Given the description of an element on the screen output the (x, y) to click on. 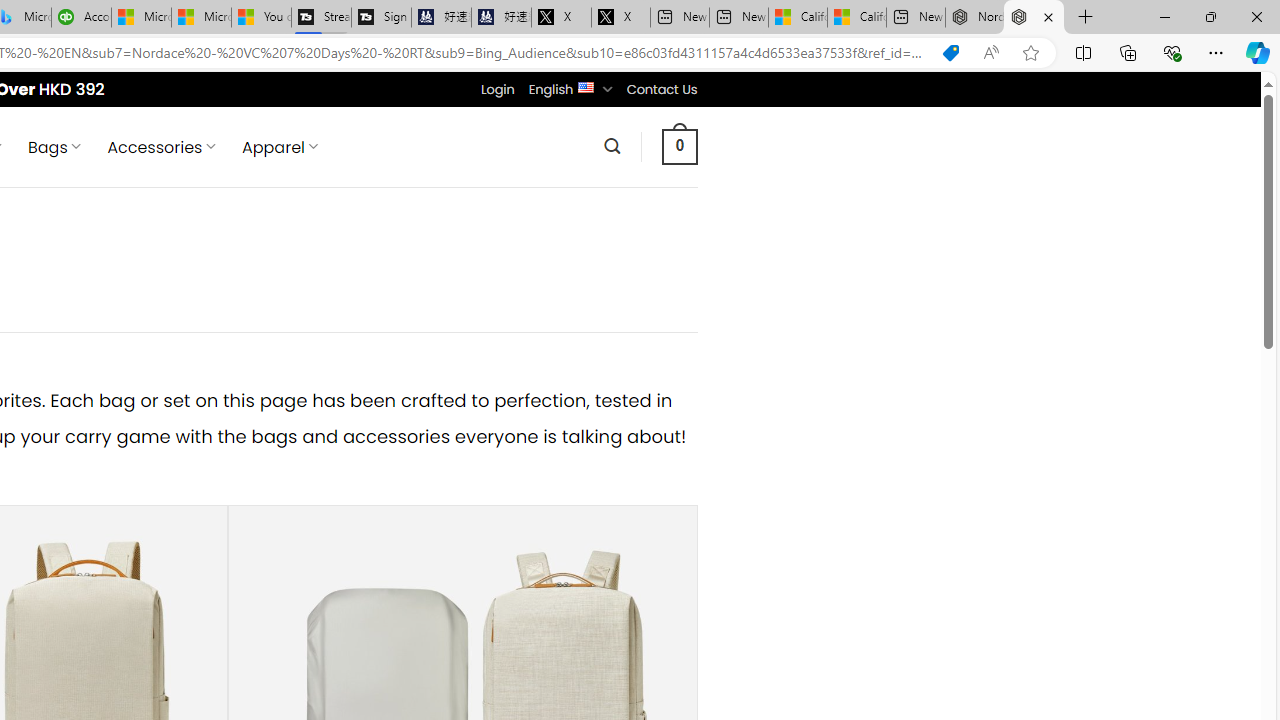
This site has coupons! Shopping in Microsoft Edge (950, 53)
  0   (679, 146)
 0  (679, 146)
Login (497, 89)
